Given the description of an element on the screen output the (x, y) to click on. 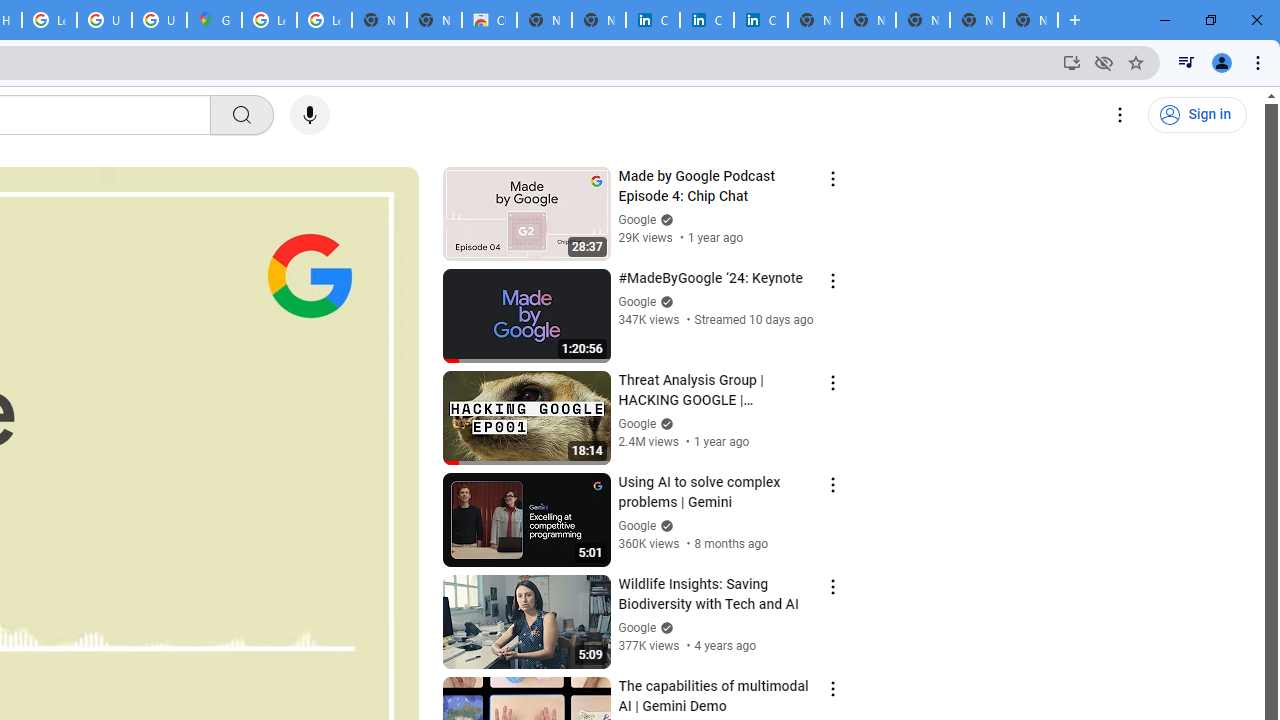
Cookie Policy | LinkedIn (706, 20)
Chrome Web Store (489, 20)
Search with your voice (309, 115)
Settings (1119, 115)
Action menu (832, 688)
Google Maps (213, 20)
